Given the description of an element on the screen output the (x, y) to click on. 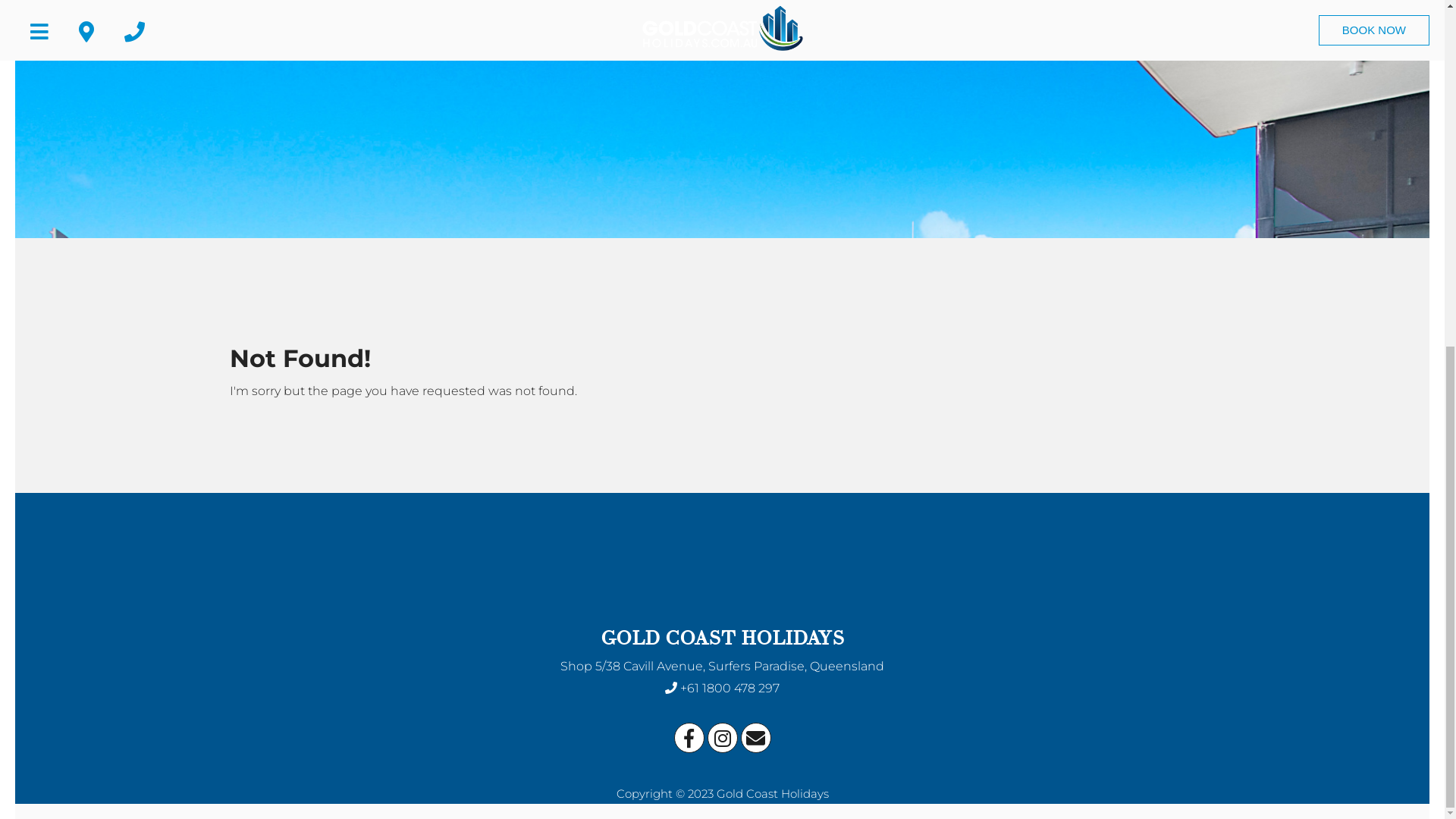
BOOK NOW Element type: text (1373, 626)
